Given the description of an element on the screen output the (x, y) to click on. 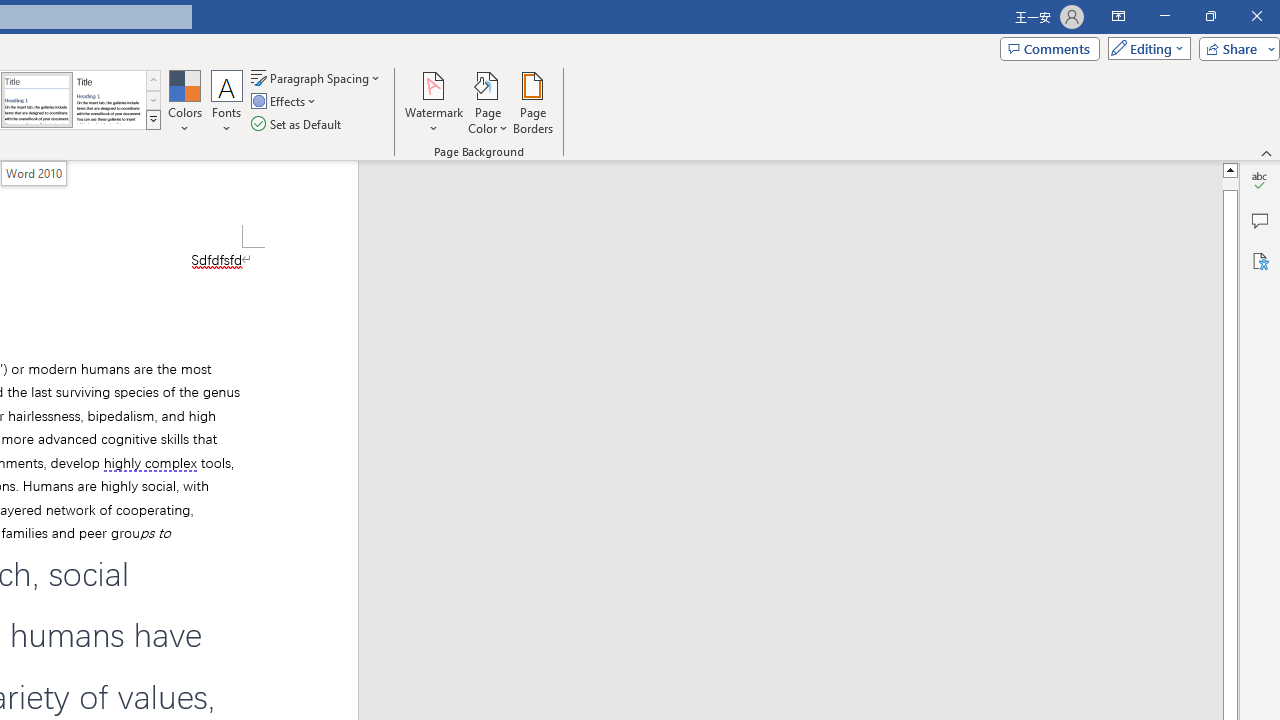
Word 2010 (33, 173)
Style Set (153, 120)
Accessibility (1260, 260)
Word 2010 (36, 100)
Set as Default (298, 124)
Colors (184, 102)
Paragraph Spacing (317, 78)
Page Borders... (532, 102)
